Given the description of an element on the screen output the (x, y) to click on. 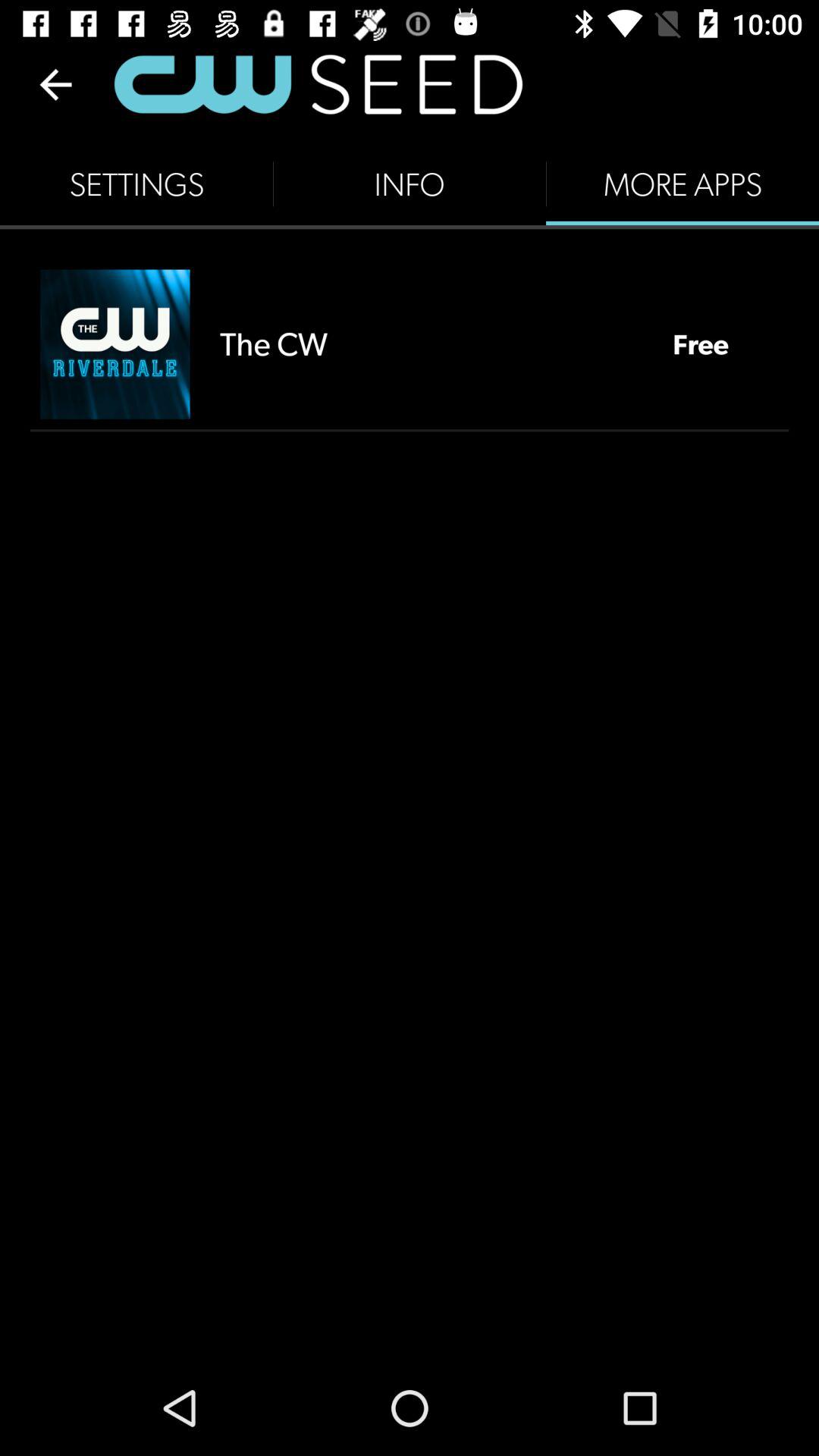
click the item next to the more apps (409, 184)
